Given the description of an element on the screen output the (x, y) to click on. 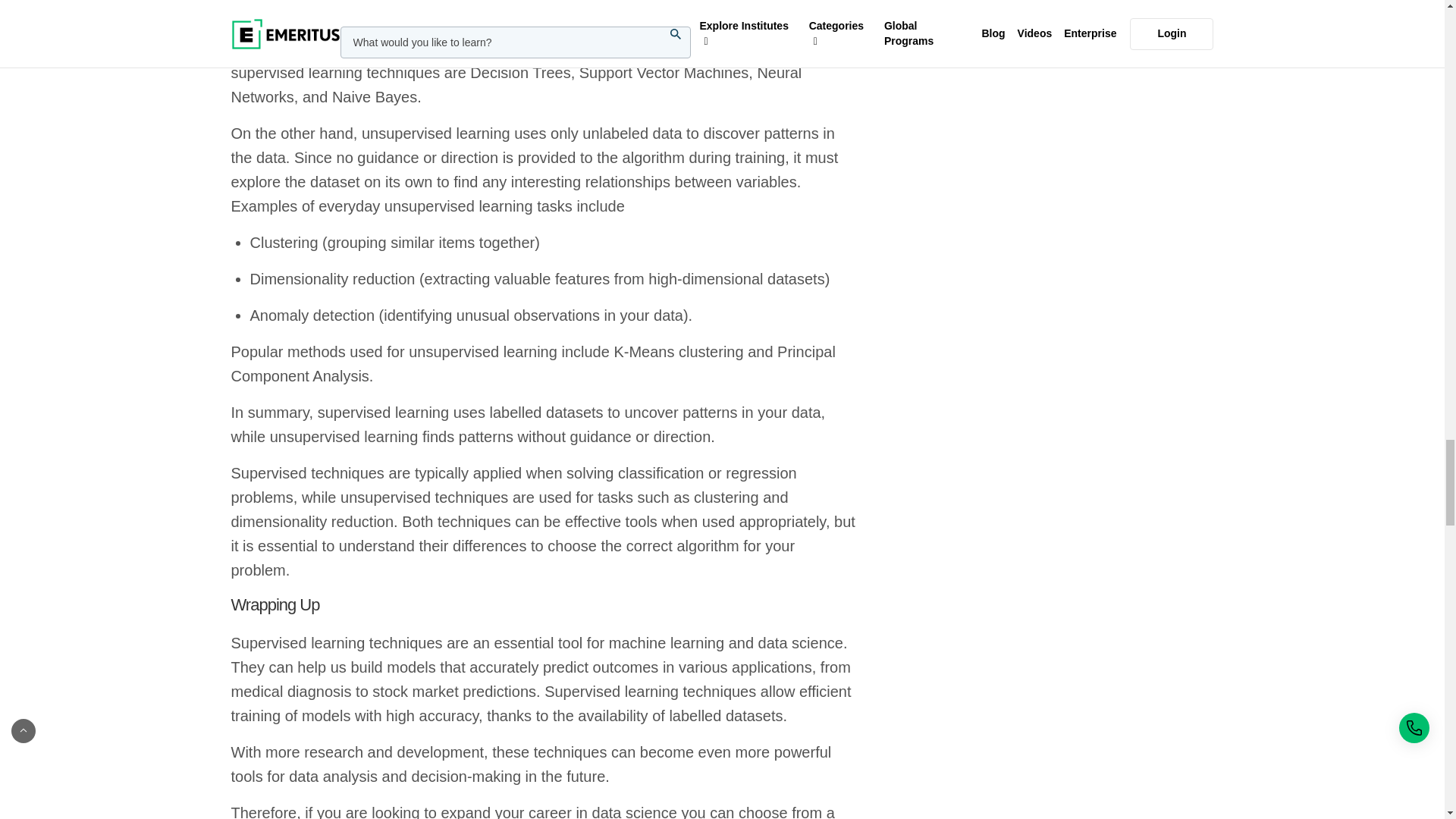
Wrapping Up (543, 605)
